Given the description of an element on the screen output the (x, y) to click on. 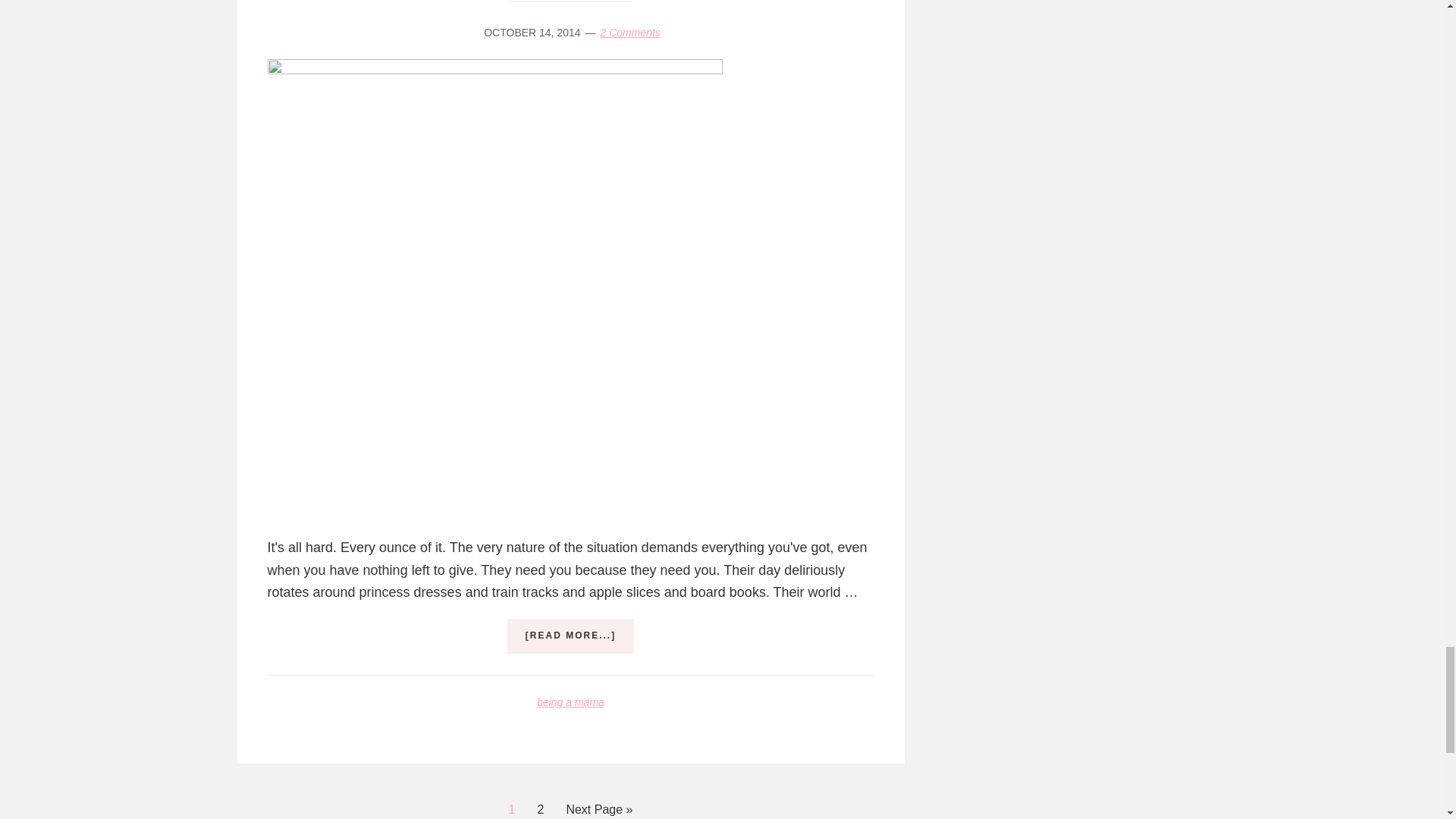
2 Comments (629, 32)
